Given the description of an element on the screen output the (x, y) to click on. 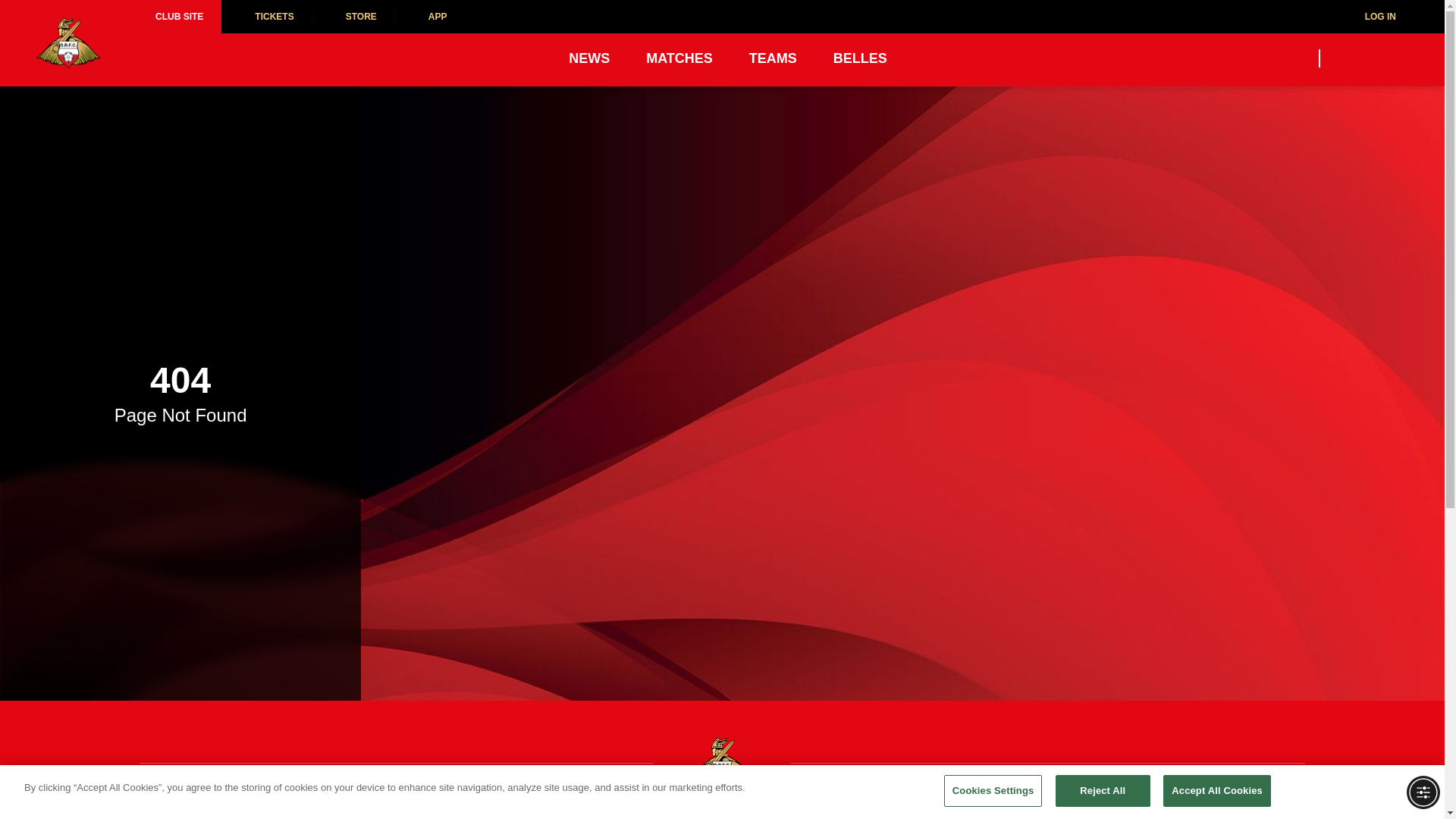
APP (429, 16)
MATCHES (679, 58)
Reject All (1102, 790)
Accept All Cookies (1217, 790)
STORE (353, 16)
TICKETS (266, 16)
BELLES (859, 58)
CLUB SITE (178, 16)
TEAMS (772, 58)
Cookies Settings (992, 790)
Accessibility Menu (1422, 792)
